Given the description of an element on the screen output the (x, y) to click on. 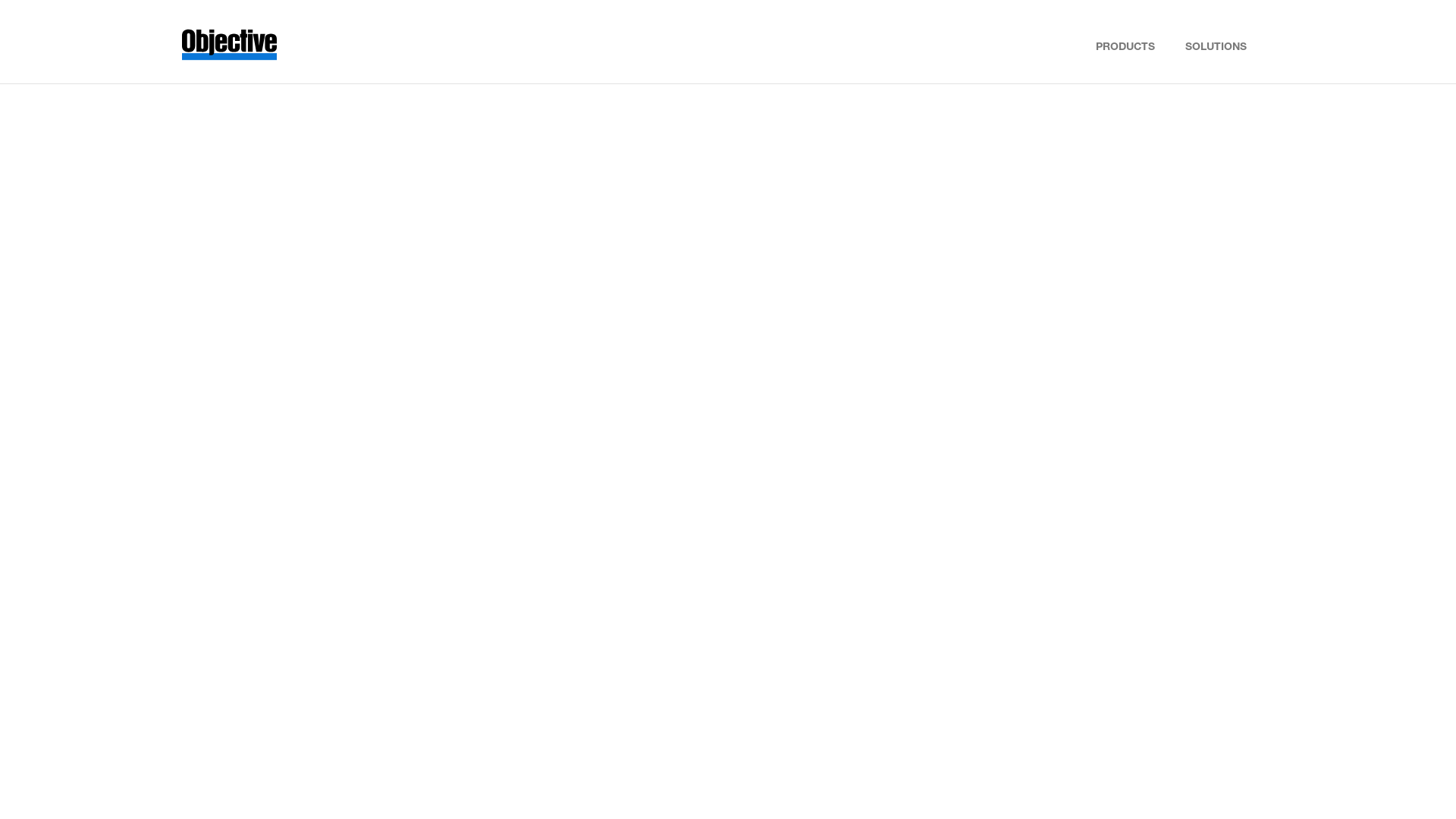
PRODUCTS Element type: text (1124, 42)
SOLUTIONS Element type: text (1215, 42)
